Given the description of an element on the screen output the (x, y) to click on. 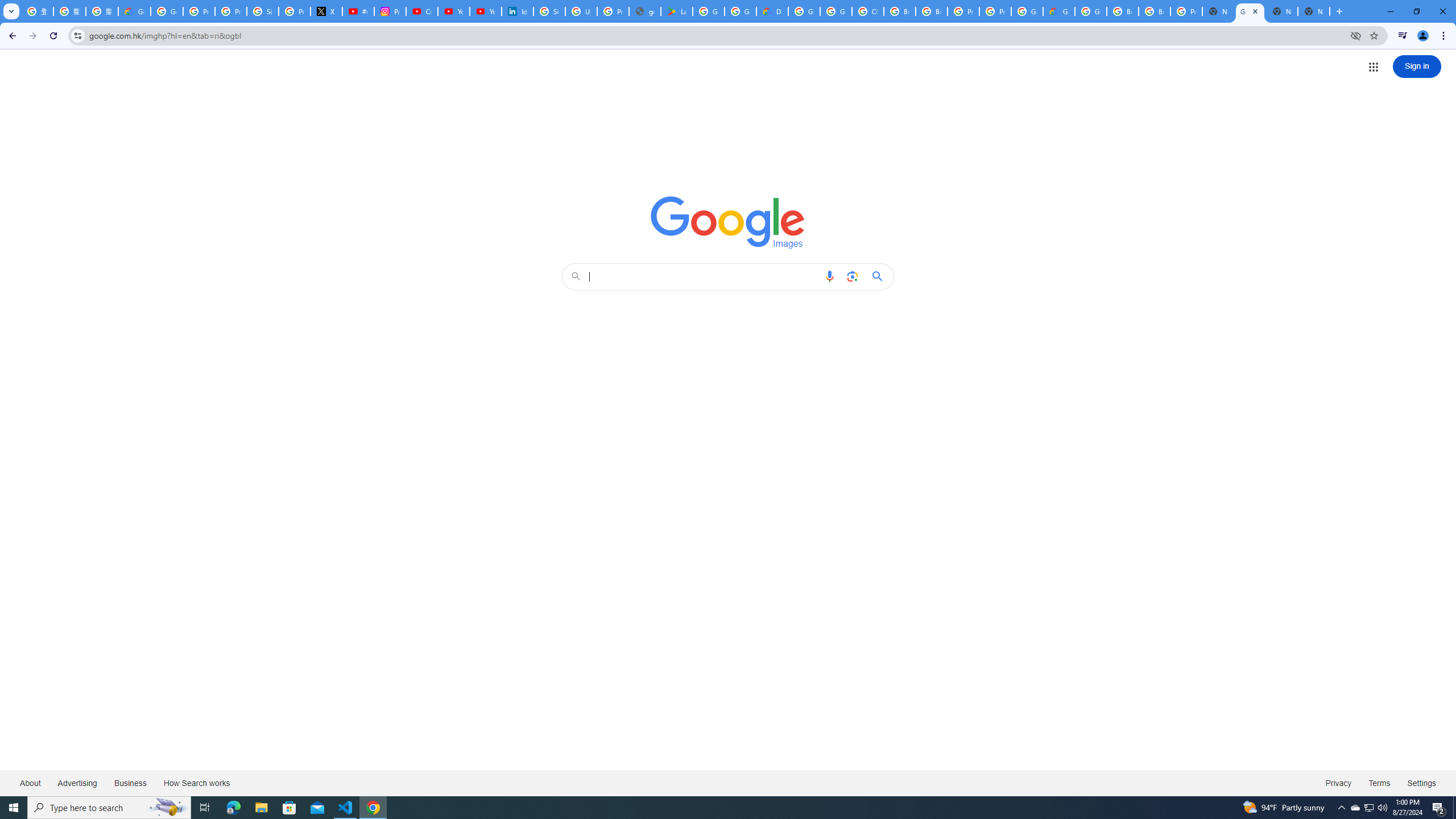
Google Cloud Estimate Summary (1059, 11)
Google Search (880, 276)
How Search works (196, 782)
YouTube Culture & Trends - YouTube Top 10, 2021 (485, 11)
